Given the description of an element on the screen output the (x, y) to click on. 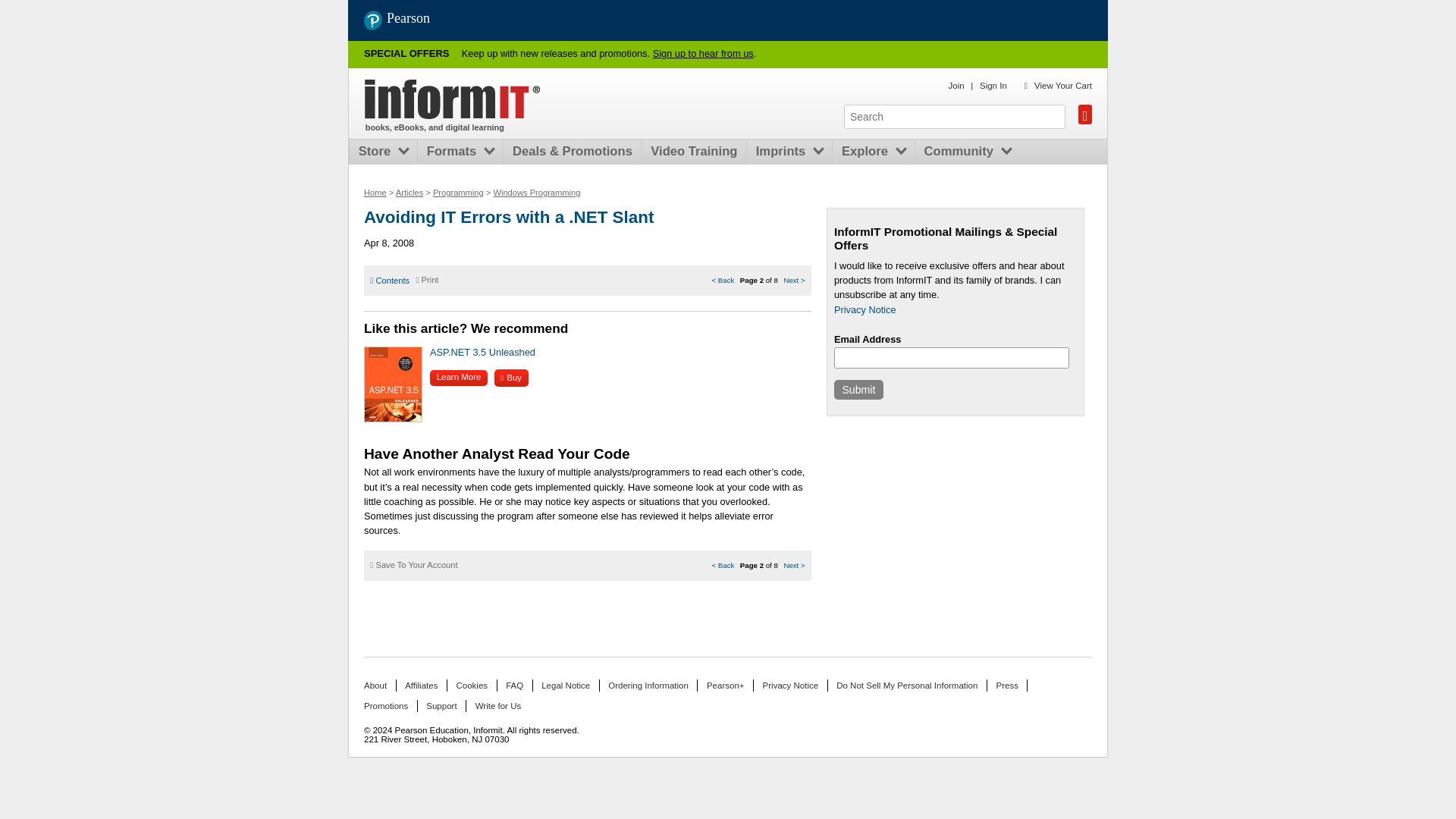
Print (426, 279)
Sign up to hear from us (703, 52)
Submit (858, 389)
Learn More (458, 377)
Home (452, 98)
Avoiding IT Errors with a .NET Slant (508, 217)
Submit (858, 389)
Join (956, 85)
Sign In (993, 85)
View Your Cart (1062, 85)
